Given the description of an element on the screen output the (x, y) to click on. 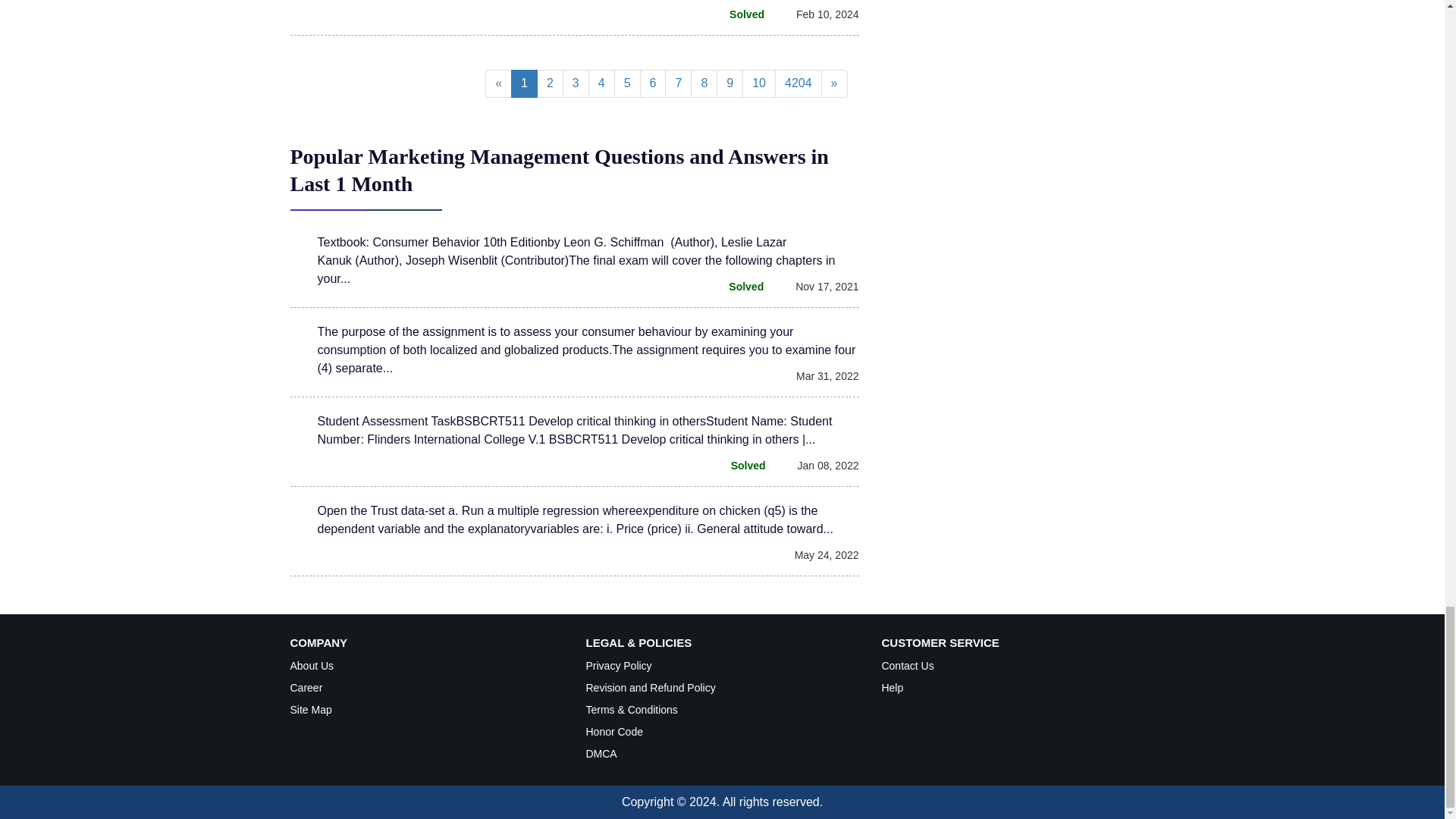
Posted On (818, 13)
solved (736, 286)
solved (738, 13)
